Given the description of an element on the screen output the (x, y) to click on. 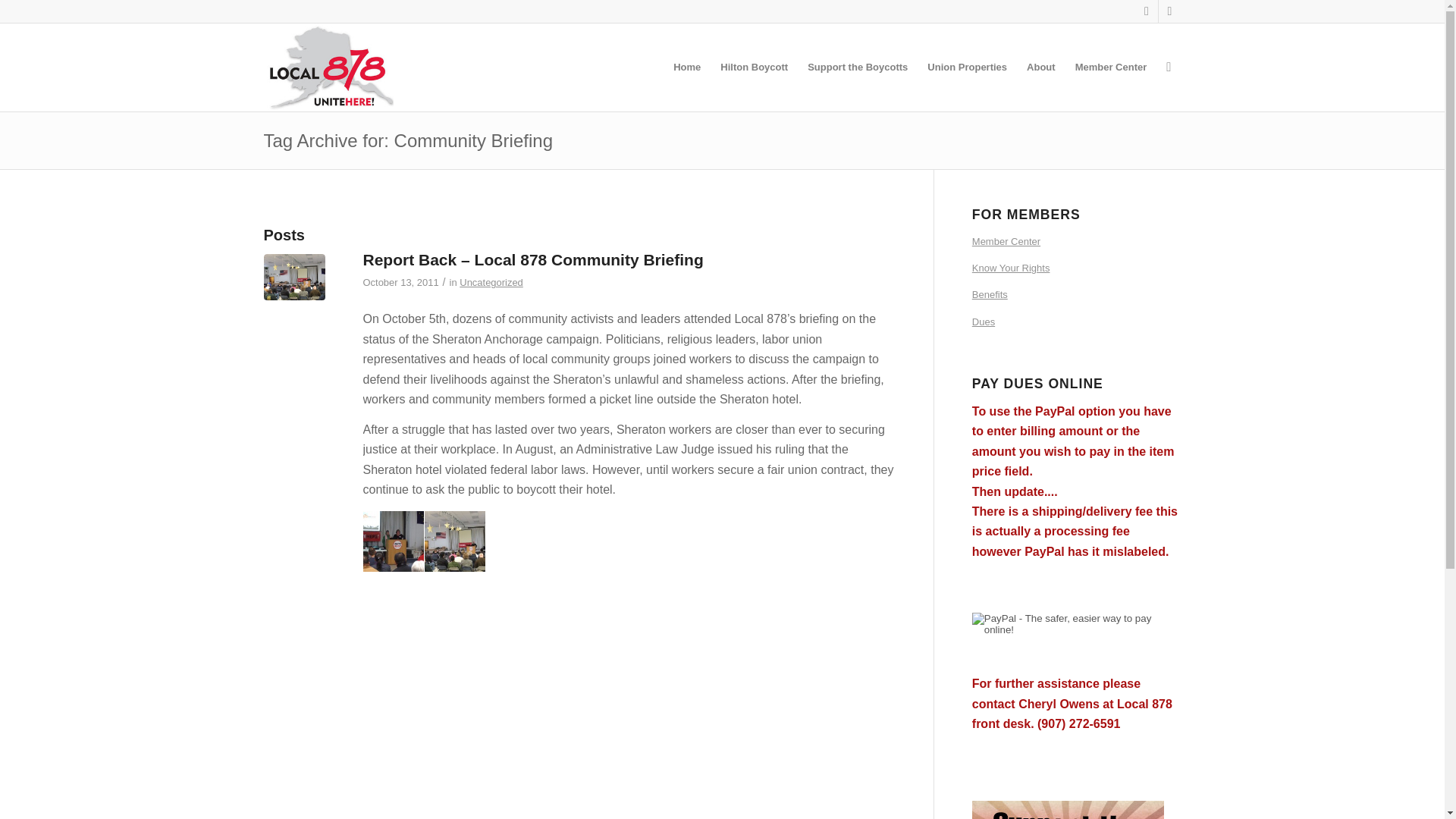
Member Center (1111, 67)
Support the Boycotts (857, 67)
Facebook (1169, 11)
Know Your Rights (1076, 268)
Member Center (1076, 242)
Permanent Link: Tag Archive for: Community Briefing (408, 140)
Hilton Boycott (753, 67)
briefing1 (293, 284)
Union Properties (966, 67)
Benefits (1076, 294)
Dues (1076, 322)
Uncategorized (491, 282)
Tag Archive for: Community Briefing (408, 140)
X (1146, 11)
